Given the description of an element on the screen output the (x, y) to click on. 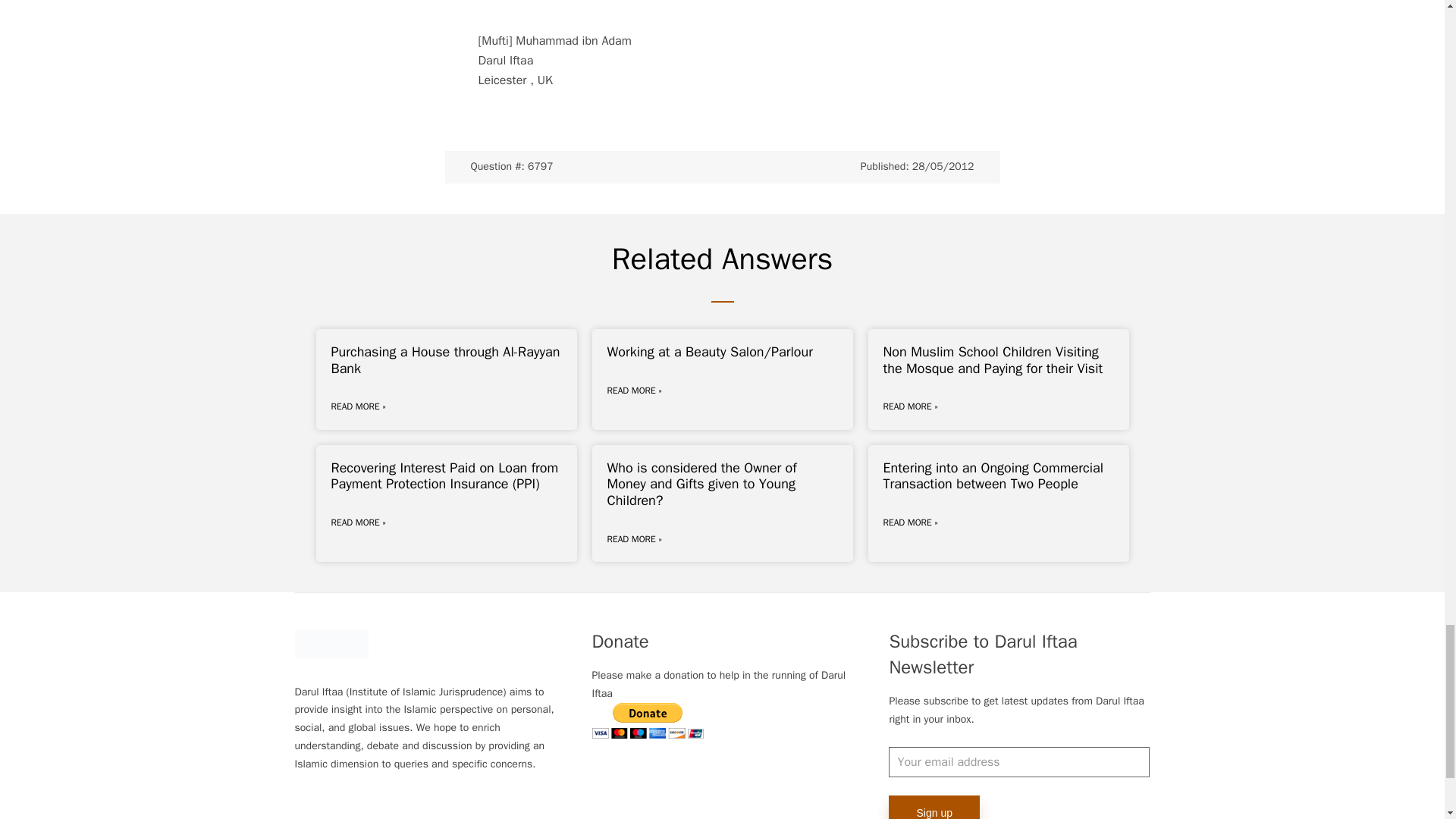
Purchasing a House through Al-Rayyan Bank (444, 359)
Sign up (933, 807)
